Given the description of an element on the screen output the (x, y) to click on. 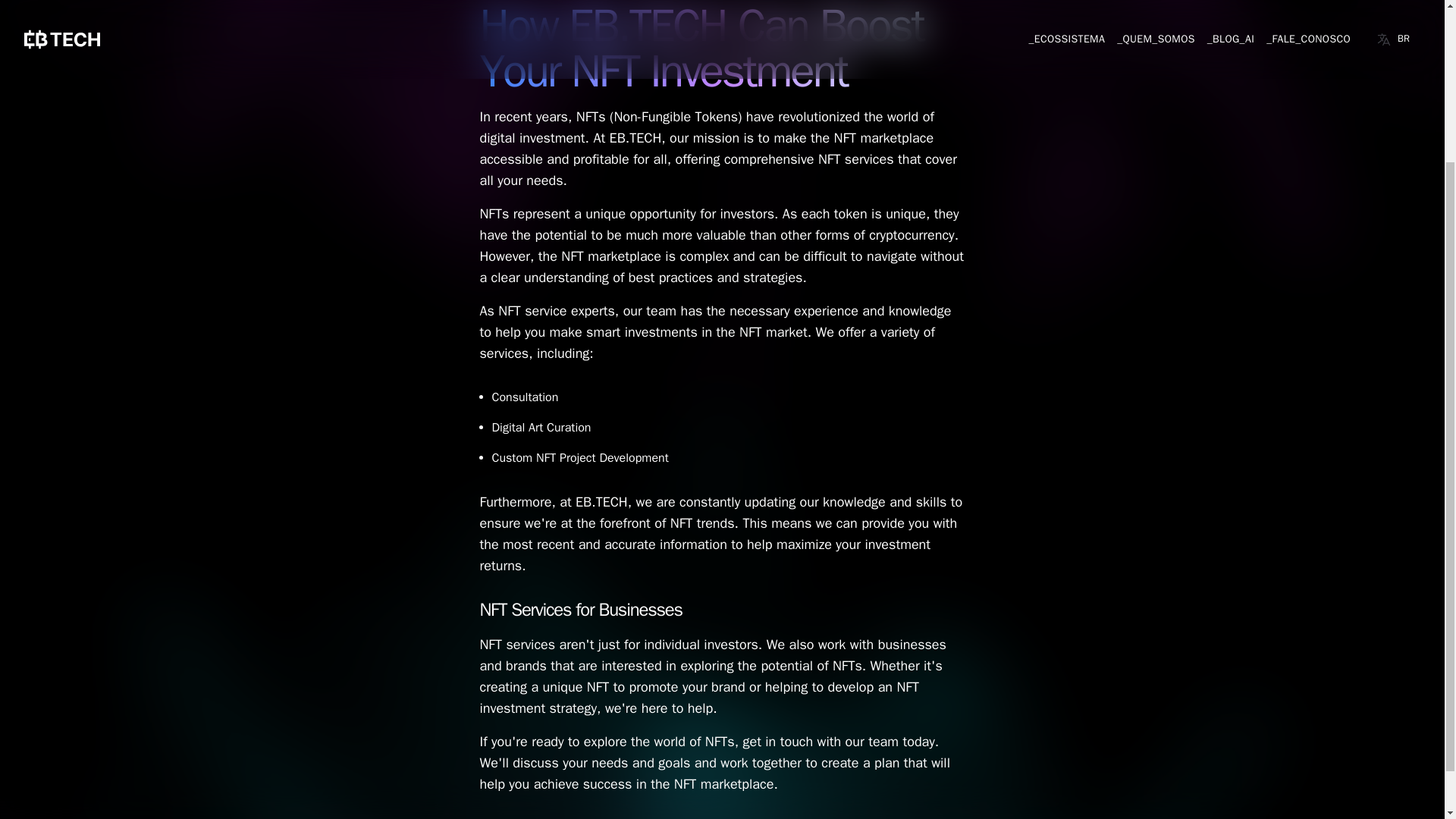
NFT Services for Businesses (580, 609)
